Given the description of an element on the screen output the (x, y) to click on. 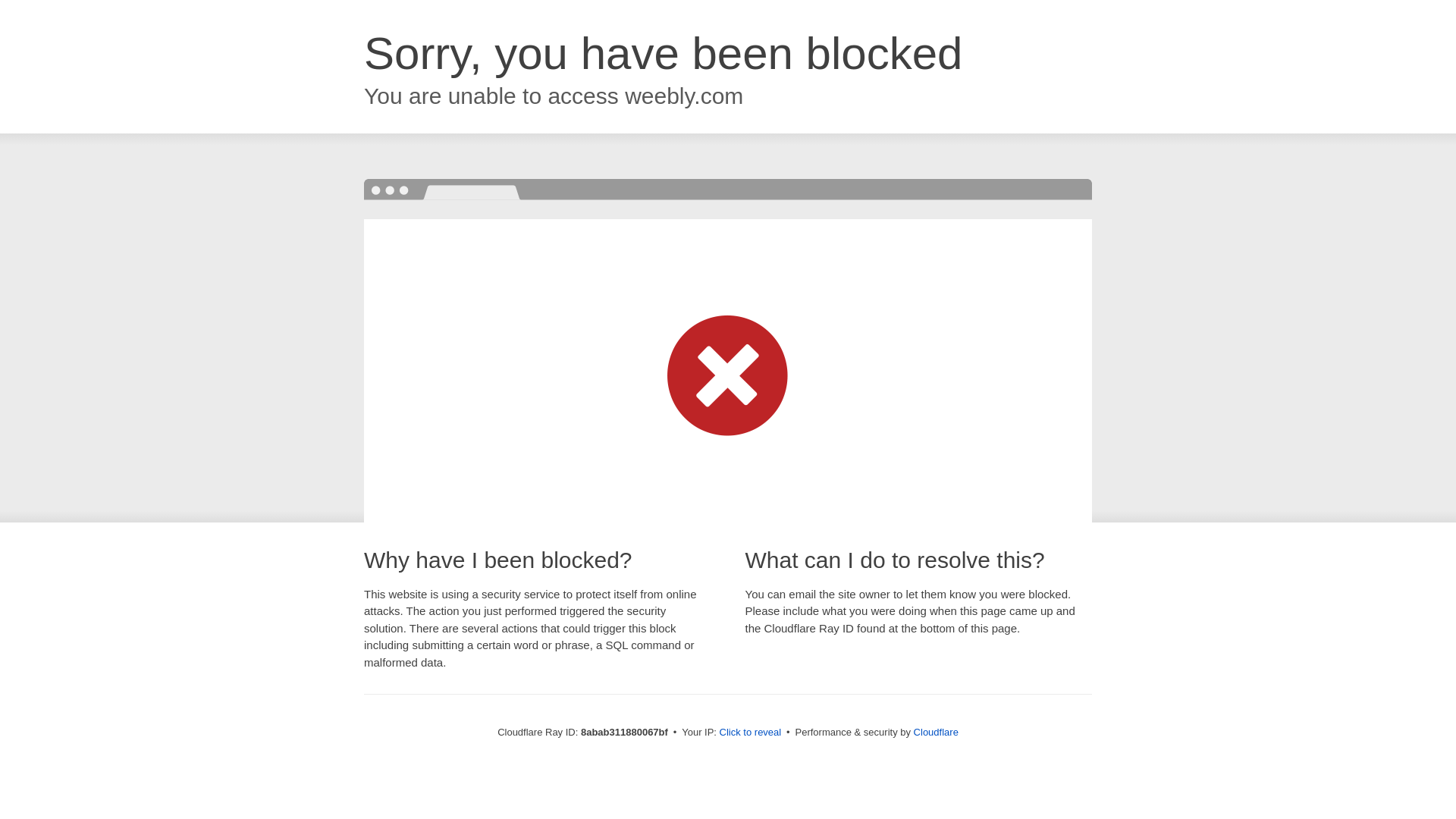
Click to reveal (750, 732)
Cloudflare (936, 731)
